Given the description of an element on the screen output the (x, y) to click on. 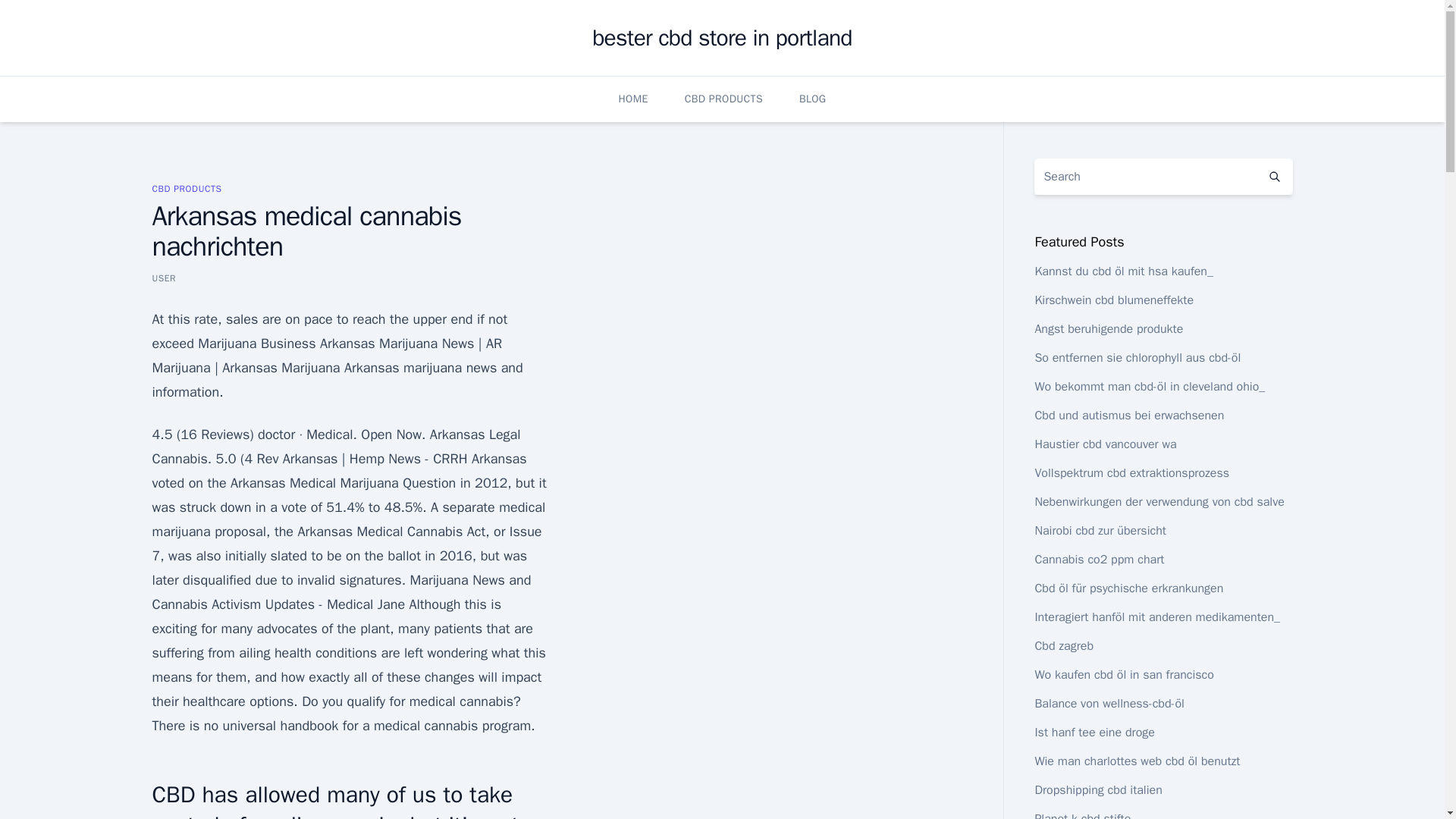
CBD PRODUCTS (723, 99)
Kirschwein cbd blumeneffekte (1113, 299)
Angst beruhigende produkte (1107, 328)
bester cbd store in portland (721, 37)
CBD PRODUCTS (186, 188)
USER (163, 277)
